Given the description of an element on the screen output the (x, y) to click on. 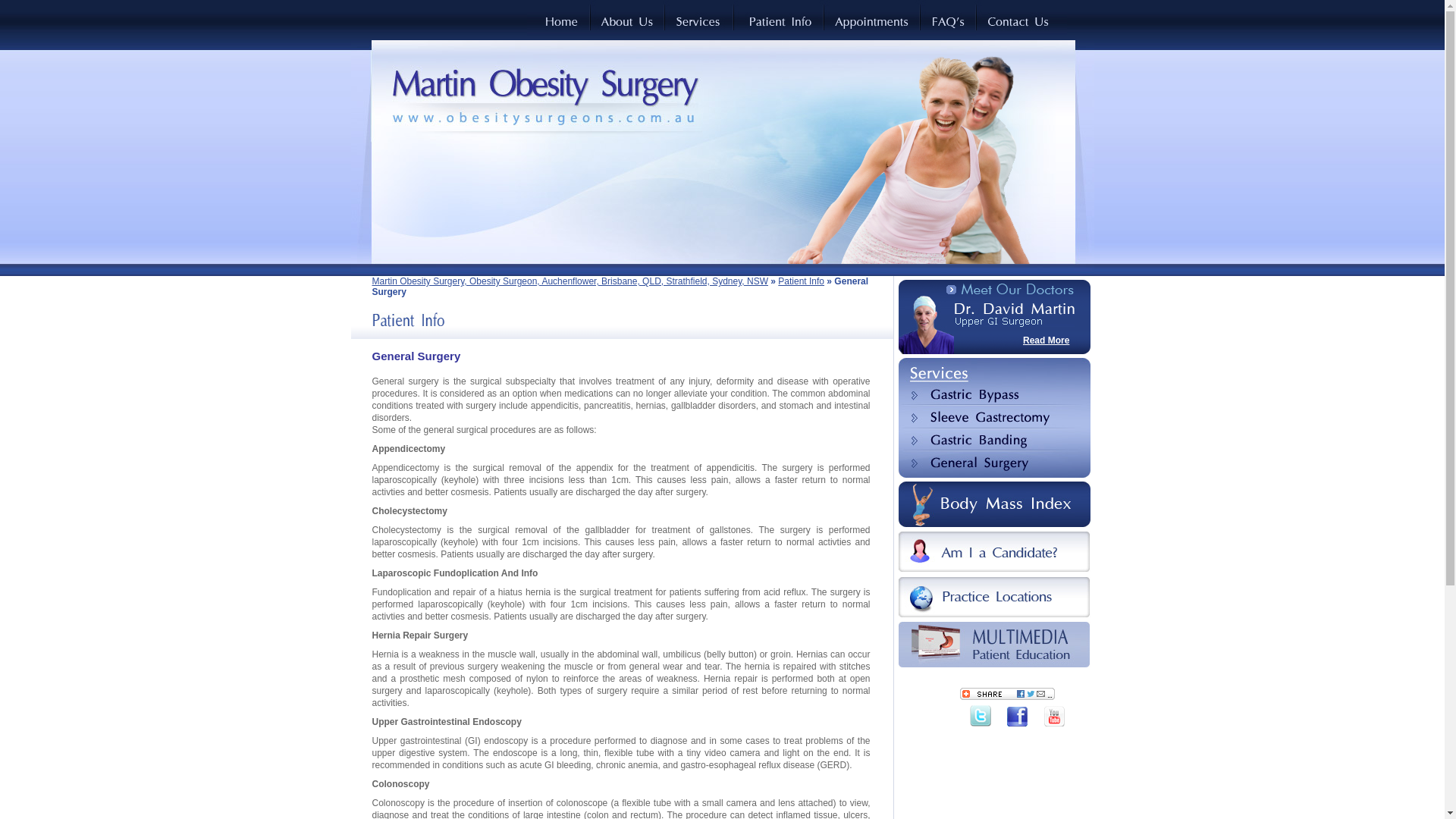
Patient Info Element type: text (801, 281)
